Given the description of an element on the screen output the (x, y) to click on. 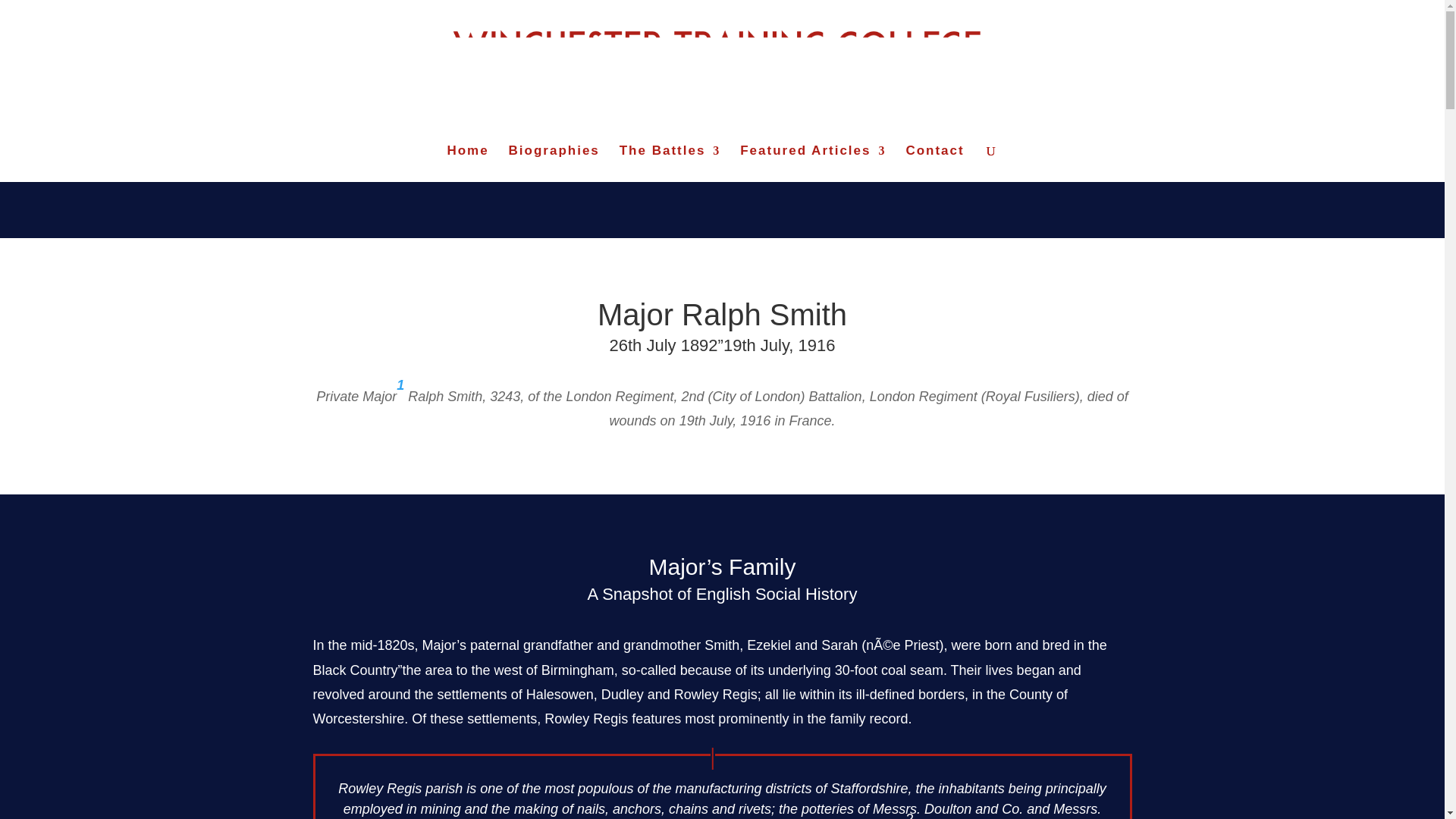
2 (909, 815)
Contact (934, 163)
Home (466, 163)
The Battles (670, 163)
Featured Articles (812, 163)
Biographies (553, 163)
